Given the description of an element on the screen output the (x, y) to click on. 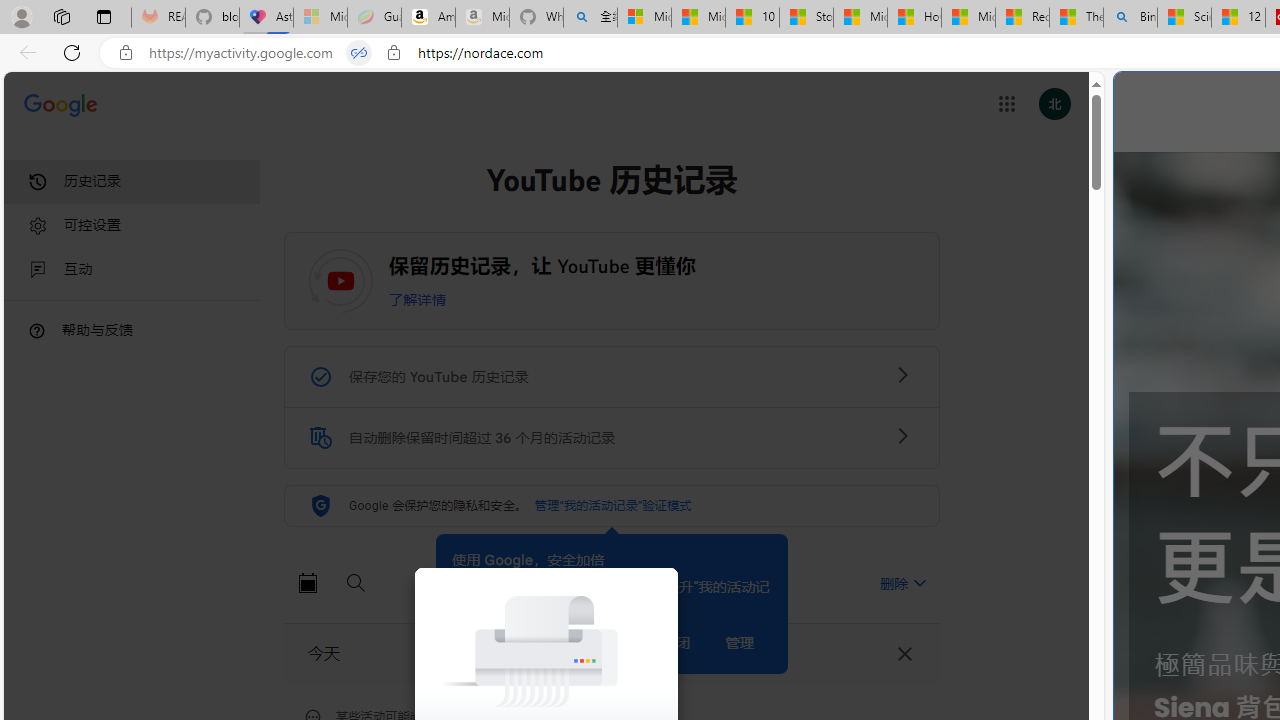
How I Got Rid of Microsoft Edge's Unnecessary Features (914, 17)
Stocks - MSN (806, 17)
Science - MSN (1184, 17)
Recipes - MSN (1022, 17)
Bing (1130, 17)
Asthma Inhalers: Names and Types (266, 17)
